Given the description of an element on the screen output the (x, y) to click on. 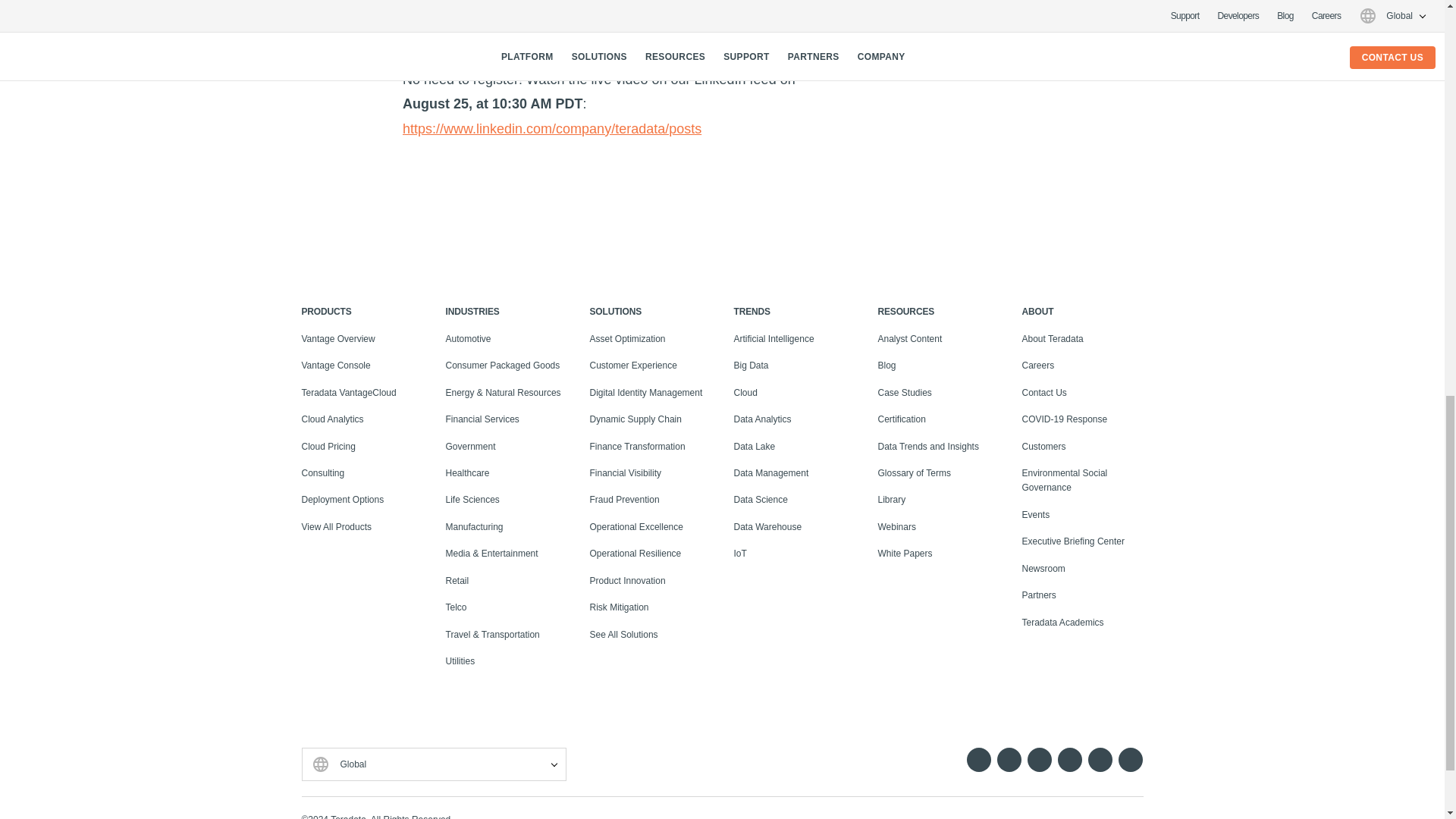
Cloud Pricing (328, 446)
Vantage Overview (338, 338)
View All Products (336, 526)
Teradata VantageCloud (348, 392)
Deployment Options (342, 499)
Vantage Console (336, 365)
Consumer Packaged Goods (502, 365)
Automotive (468, 338)
Cloud Analytics (332, 419)
Consulting (323, 472)
